Given the description of an element on the screen output the (x, y) to click on. 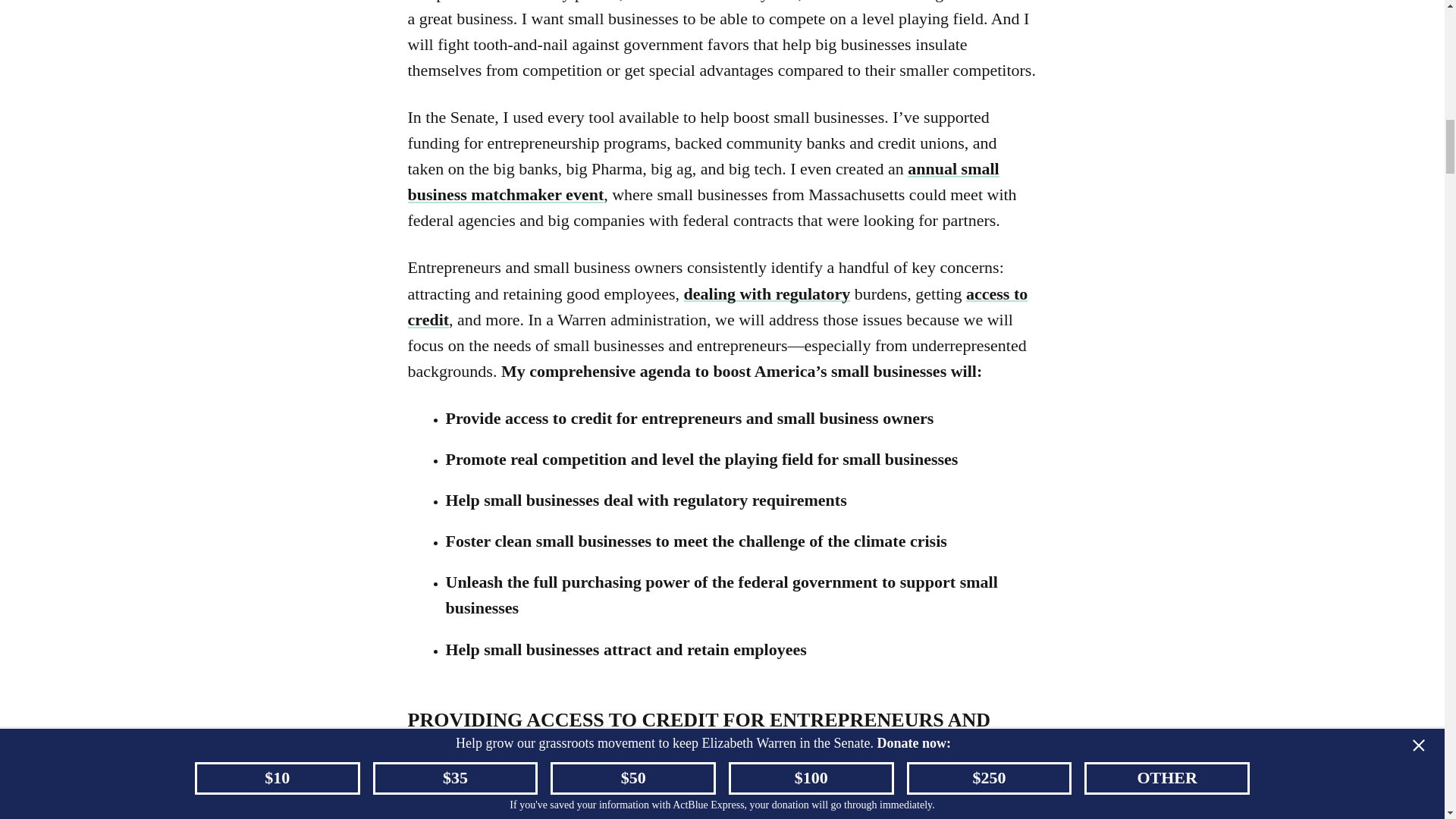
dealing with regulatory (767, 293)
access to credit (717, 306)
lack of access to credit (846, 778)
annual small business matchmaker event (702, 180)
